Given the description of an element on the screen output the (x, y) to click on. 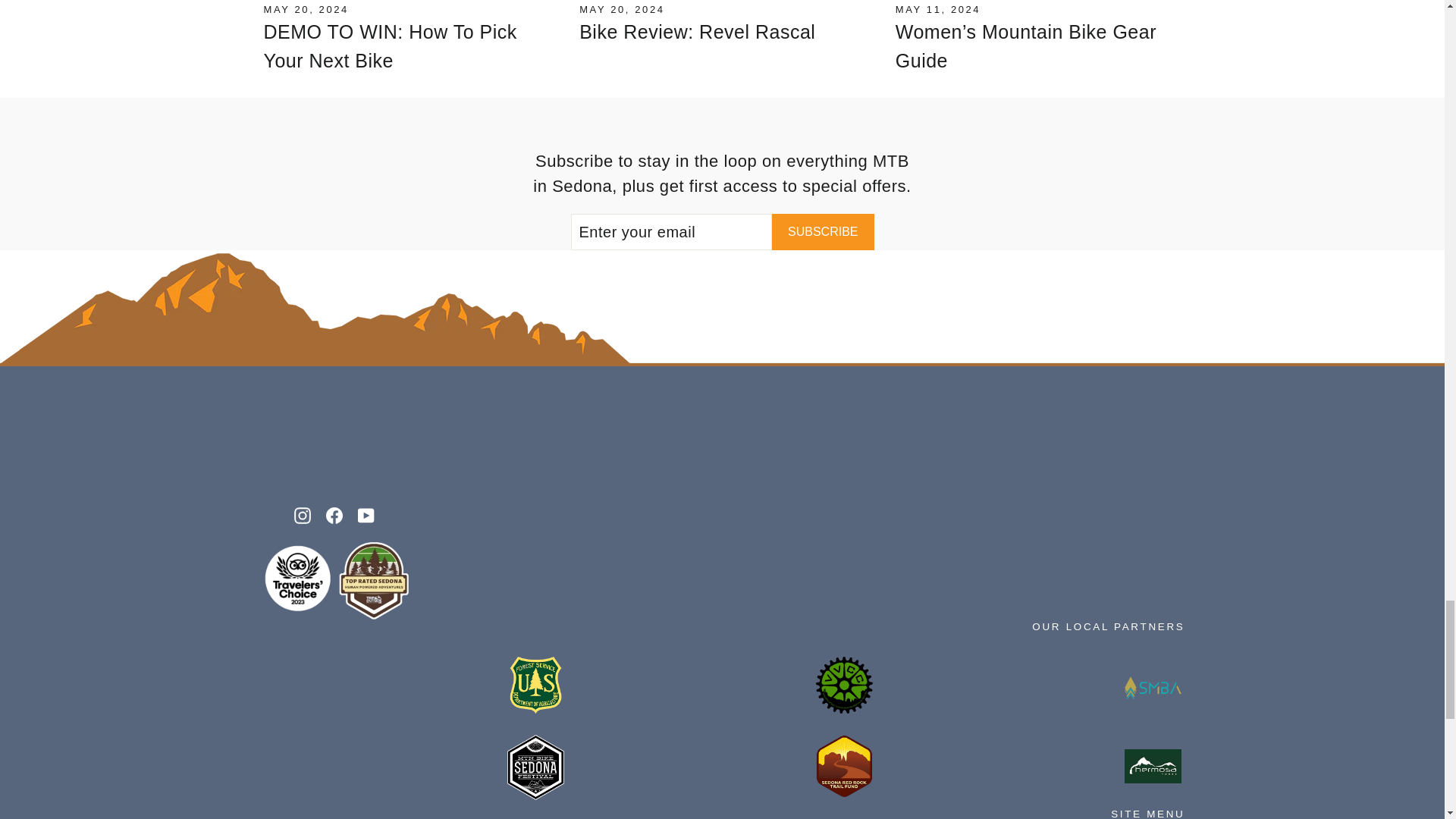
Thunder Mountain Bikes on Instagram (301, 513)
Thunder Mountain Bikes on Facebook (333, 513)
instagram (302, 515)
Thunder Mountain Bikes on YouTube (365, 513)
